Given the description of an element on the screen output the (x, y) to click on. 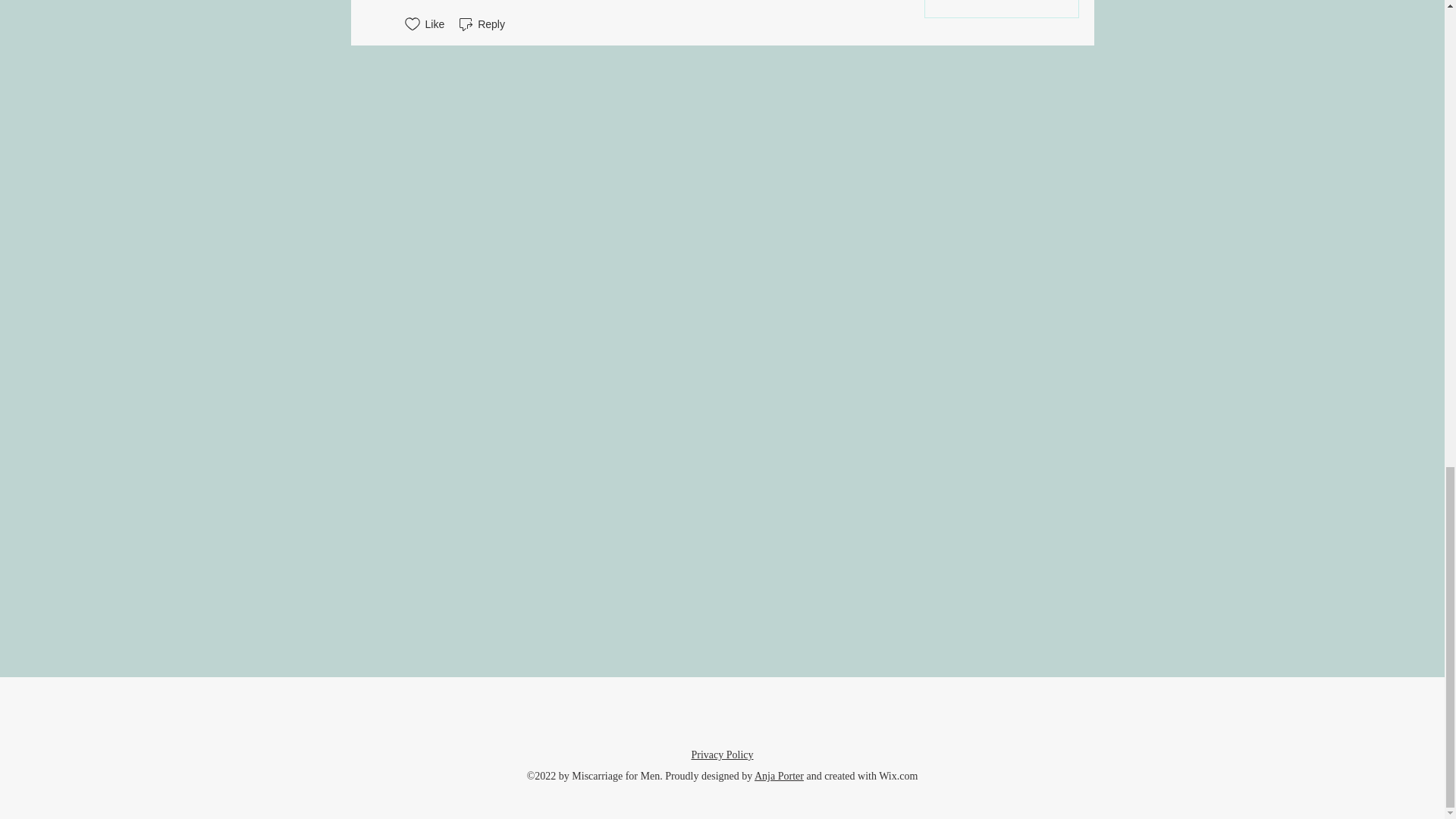
Anja Porter (778, 776)
Privacy Policy (721, 754)
Reply (481, 24)
